Given the description of an element on the screen output the (x, y) to click on. 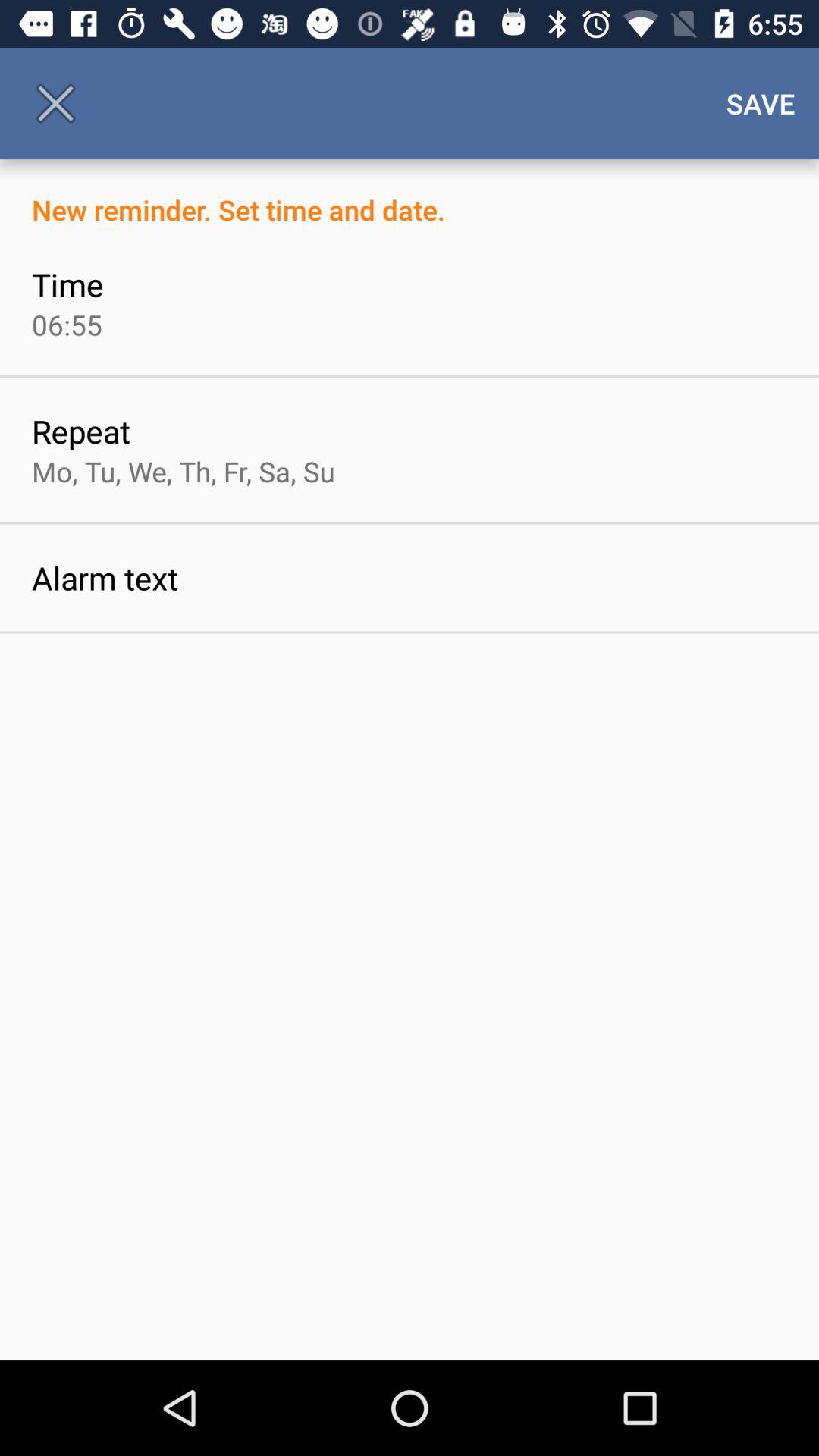
turn on new reminder set item (409, 193)
